Given the description of an element on the screen output the (x, y) to click on. 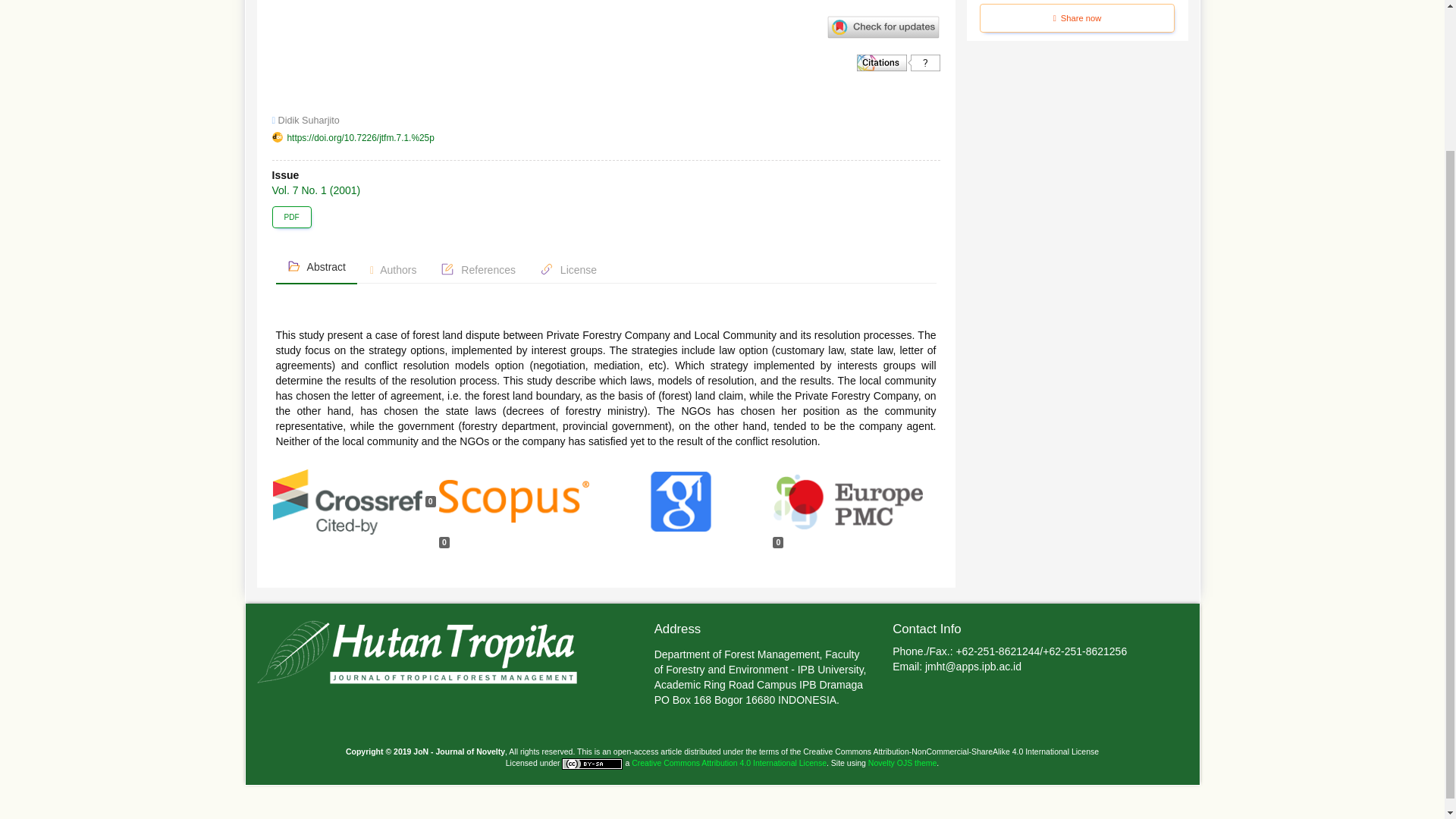
References (477, 270)
PDF (290, 217)
Abstract (316, 267)
License (568, 270)
? (898, 62)
Authors (393, 270)
